Given the description of an element on the screen output the (x, y) to click on. 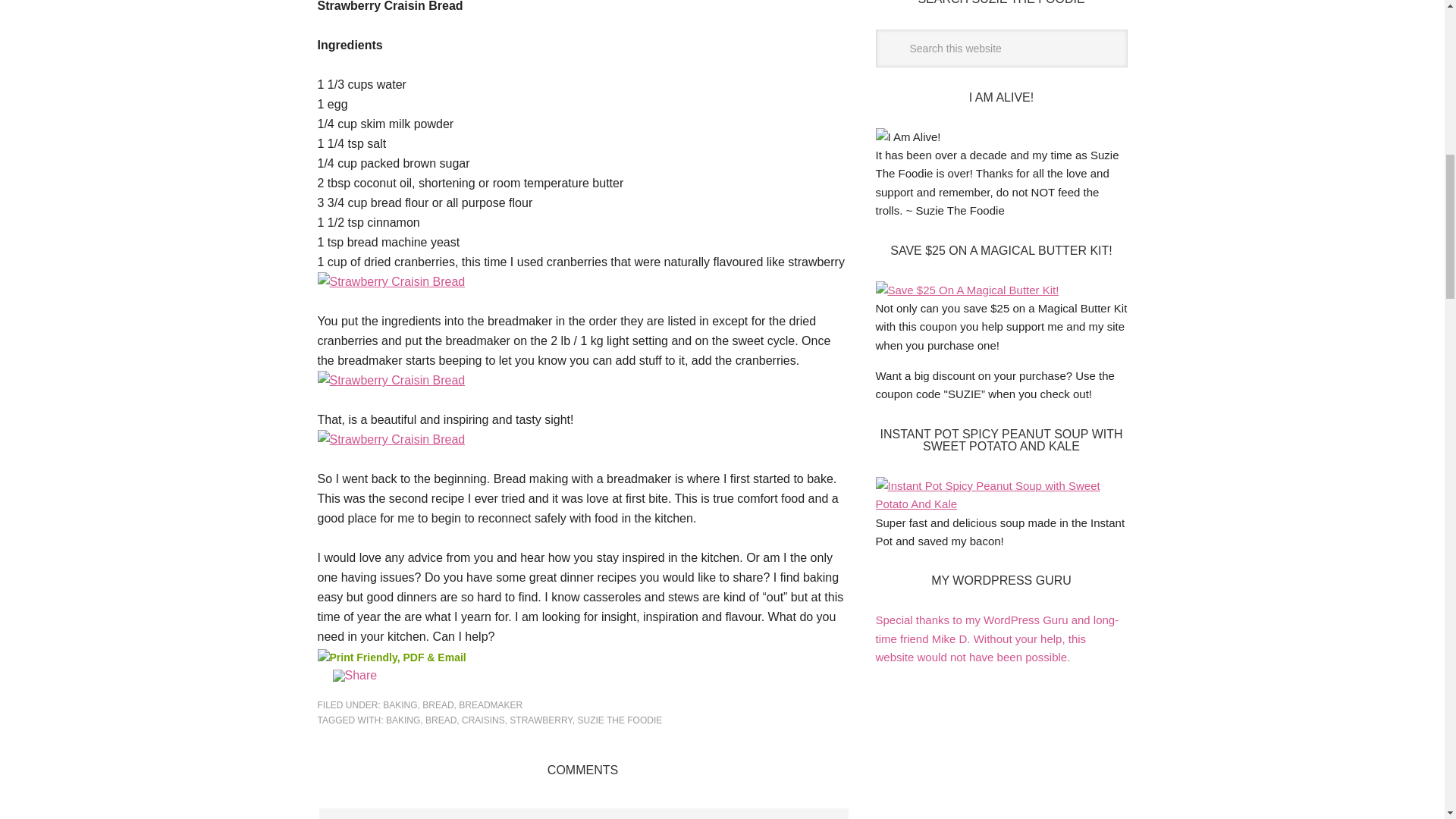
SUZIE THE FOODIE (620, 719)
BREAD (437, 705)
CRAISINS (483, 719)
BAKING (399, 705)
Strawberry Craisin Bread by Suzie Ridler, on Flickr (390, 379)
Strawberry Craisin Bread by Suzie Ridler, on Flickr (390, 439)
Strawberry Craisin Bread by Suzie Ridler, on Flickr (390, 281)
BREADMAKER (490, 705)
